Given the description of an element on the screen output the (x, y) to click on. 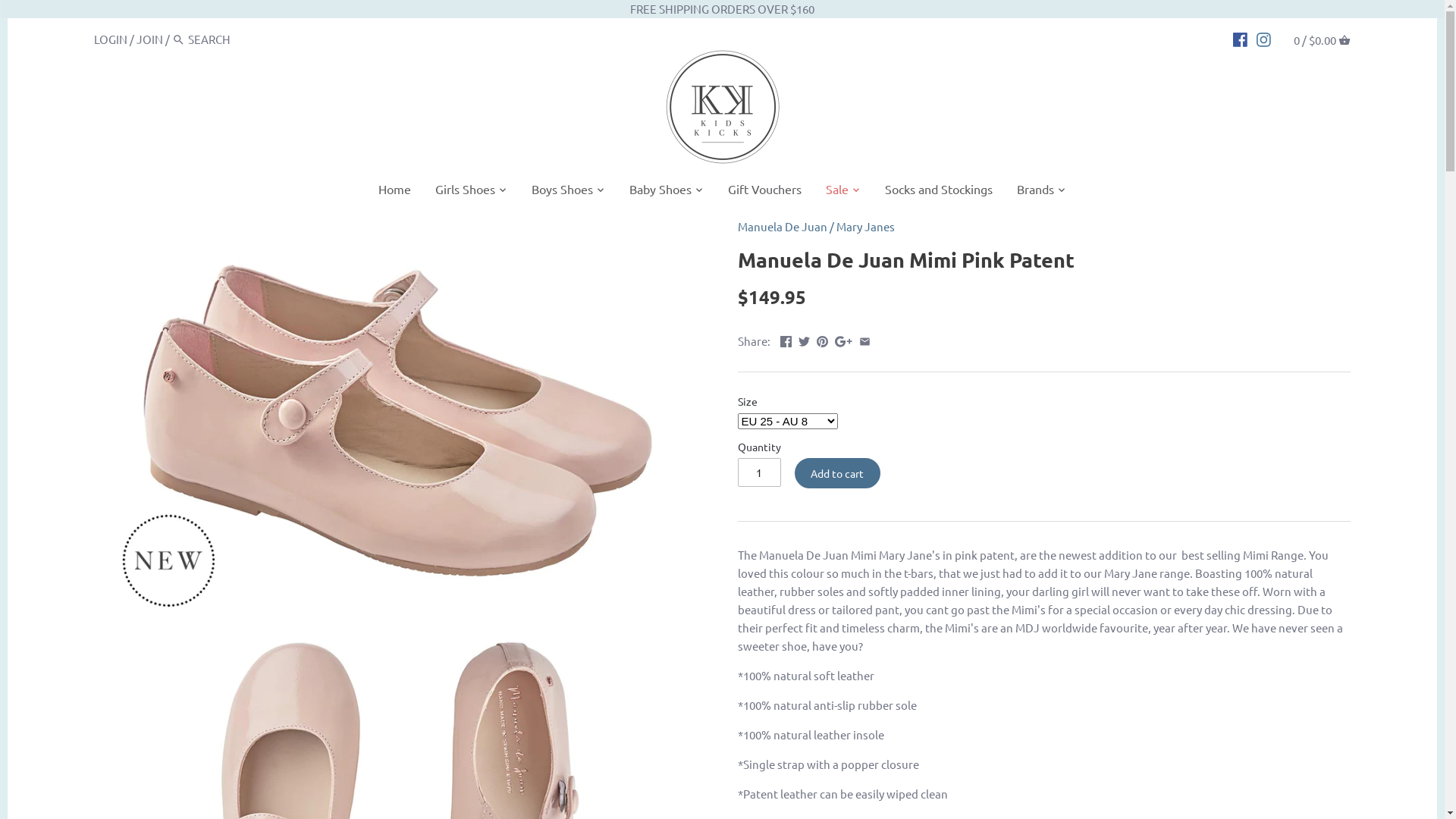
Pinterest Element type: text (822, 339)
Baby Shoes Element type: text (660, 191)
Email Element type: text (863, 339)
Gift Vouchers Element type: text (764, 191)
Sale Element type: text (836, 191)
Brands Element type: text (1035, 191)
Twitter Element type: text (803, 339)
Search Element type: text (178, 39)
Girls Shoes Element type: text (465, 191)
Socks and Stockings Element type: text (938, 191)
LOGIN Element type: text (110, 38)
Home Element type: text (394, 191)
Add to cart Element type: text (837, 473)
Mary Janes Element type: text (864, 226)
Facebook Element type: text (785, 339)
GooglePlus Element type: text (843, 339)
Manuela De Juan Element type: text (781, 226)
0 / $0.00 CART Element type: text (1321, 39)
Boys Shoes Element type: text (562, 191)
FACEBOOK Element type: text (1240, 38)
INSTAGRAM Element type: text (1263, 38)
JOIN Element type: text (149, 38)
